Given the description of an element on the screen output the (x, y) to click on. 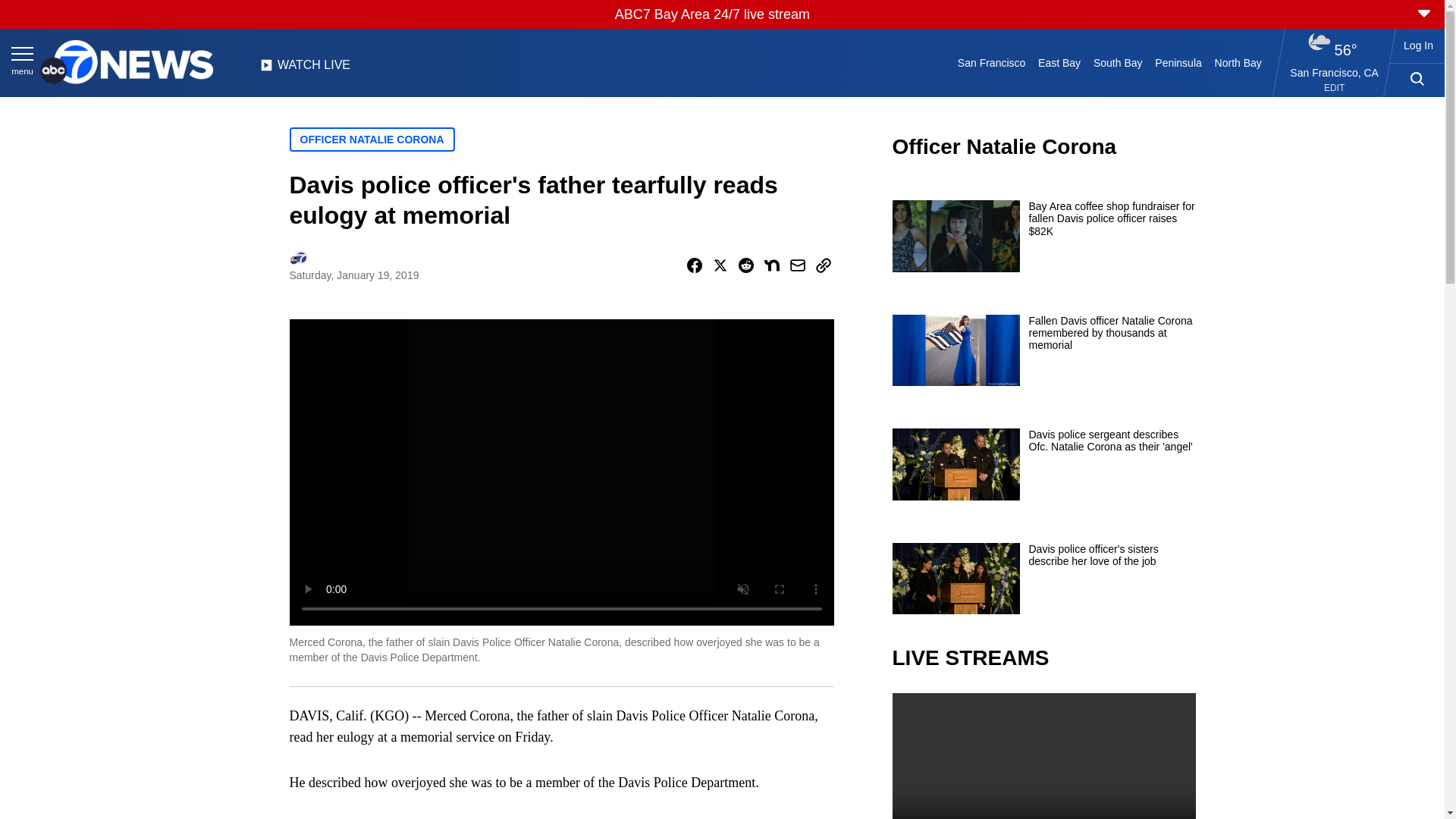
EDIT (1333, 87)
WATCH LIVE (305, 69)
Peninsula (1178, 62)
North Bay (1238, 62)
San Francisco, CA (1334, 72)
San Francisco (990, 62)
East Bay (1059, 62)
South Bay (1117, 62)
video.title (1043, 755)
